Given the description of an element on the screen output the (x, y) to click on. 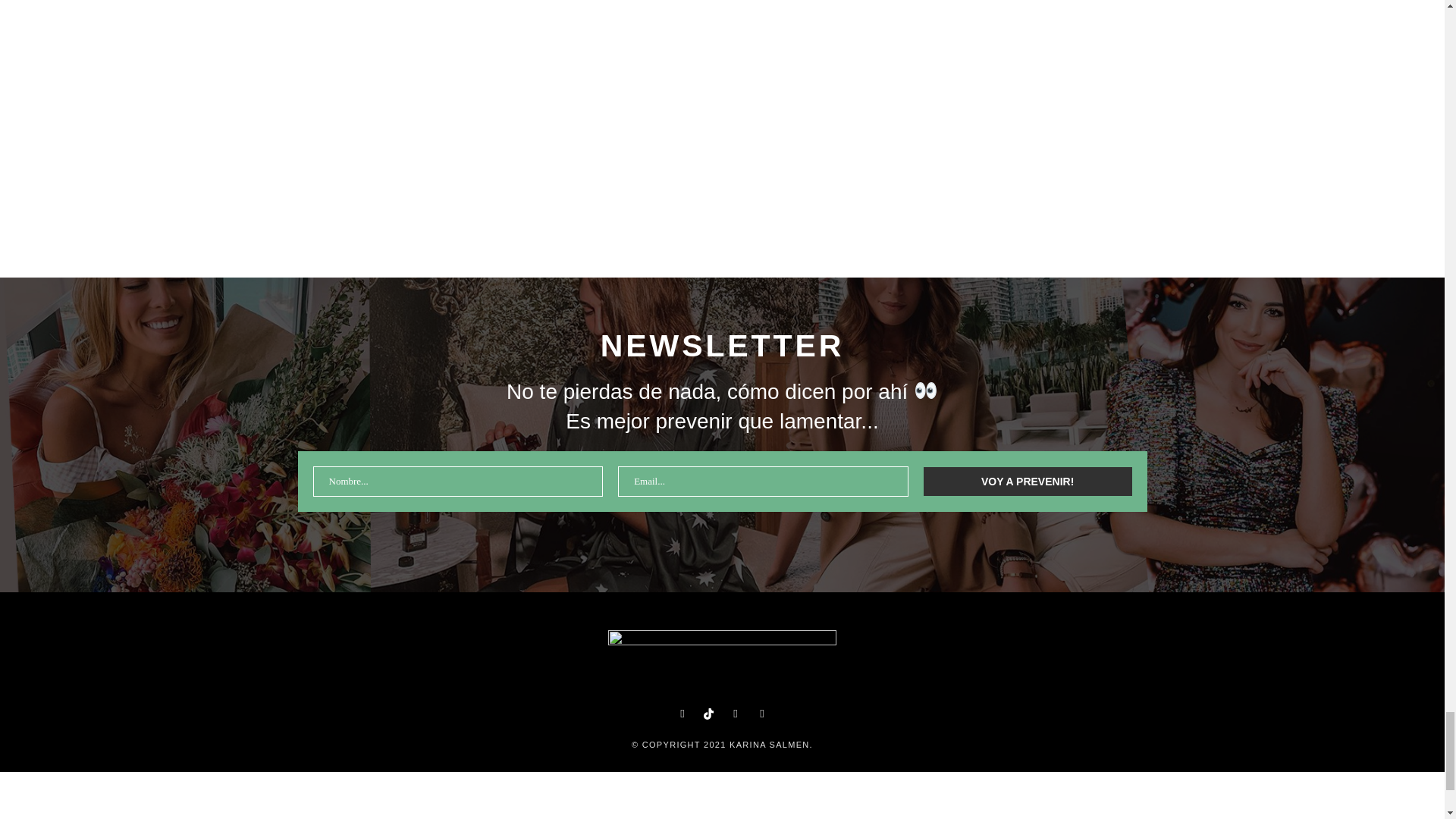
Voy a prevenir! (1027, 481)
